Given the description of an element on the screen output the (x, y) to click on. 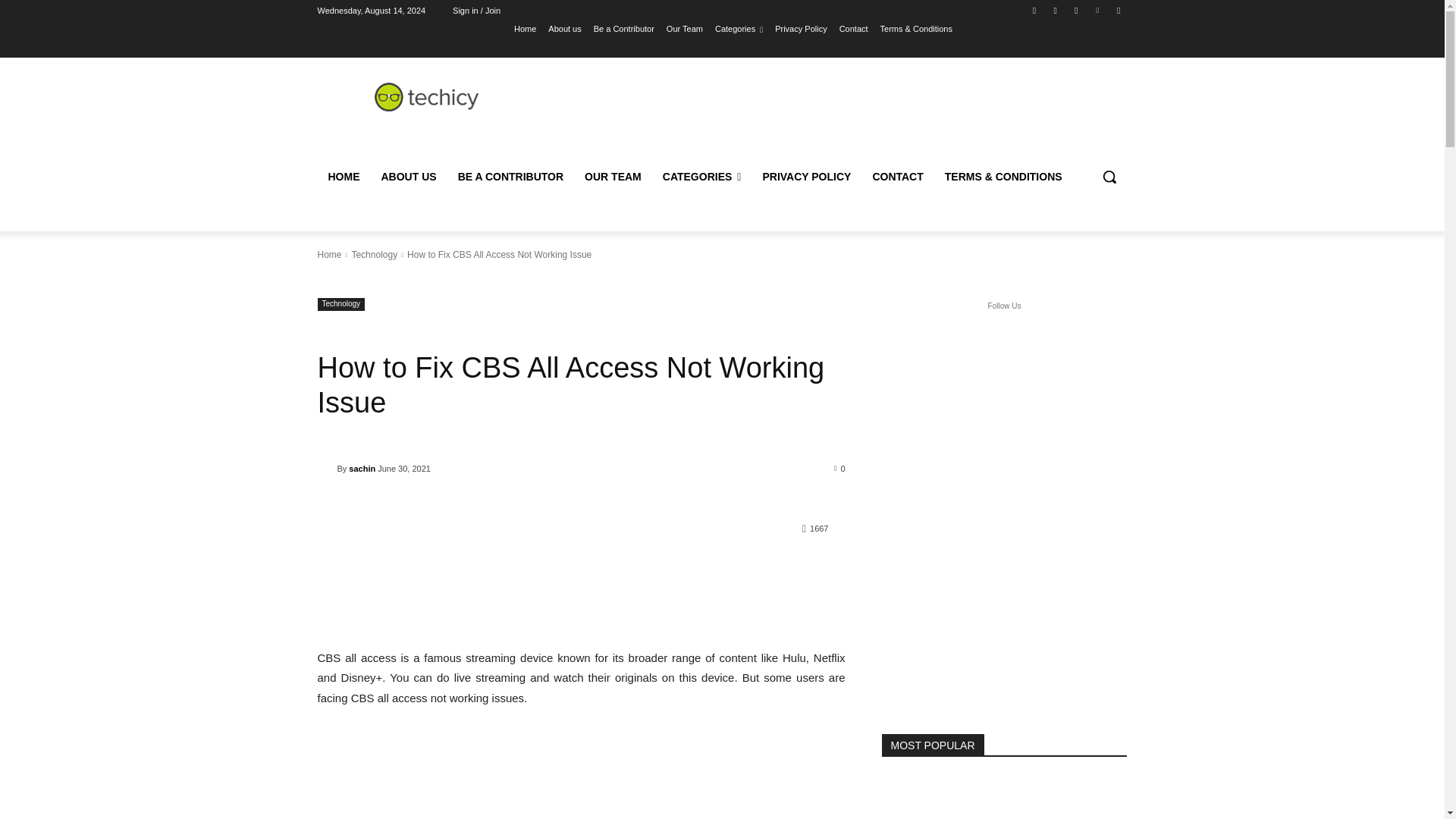
Our Team (684, 28)
Categories (738, 28)
sachin (326, 468)
Contact (853, 28)
Facebook (1034, 9)
Be a Contributor (623, 28)
About us (564, 28)
View all posts in Technology (373, 254)
Twitter (1075, 9)
Home (524, 28)
